Given the description of an element on the screen output the (x, y) to click on. 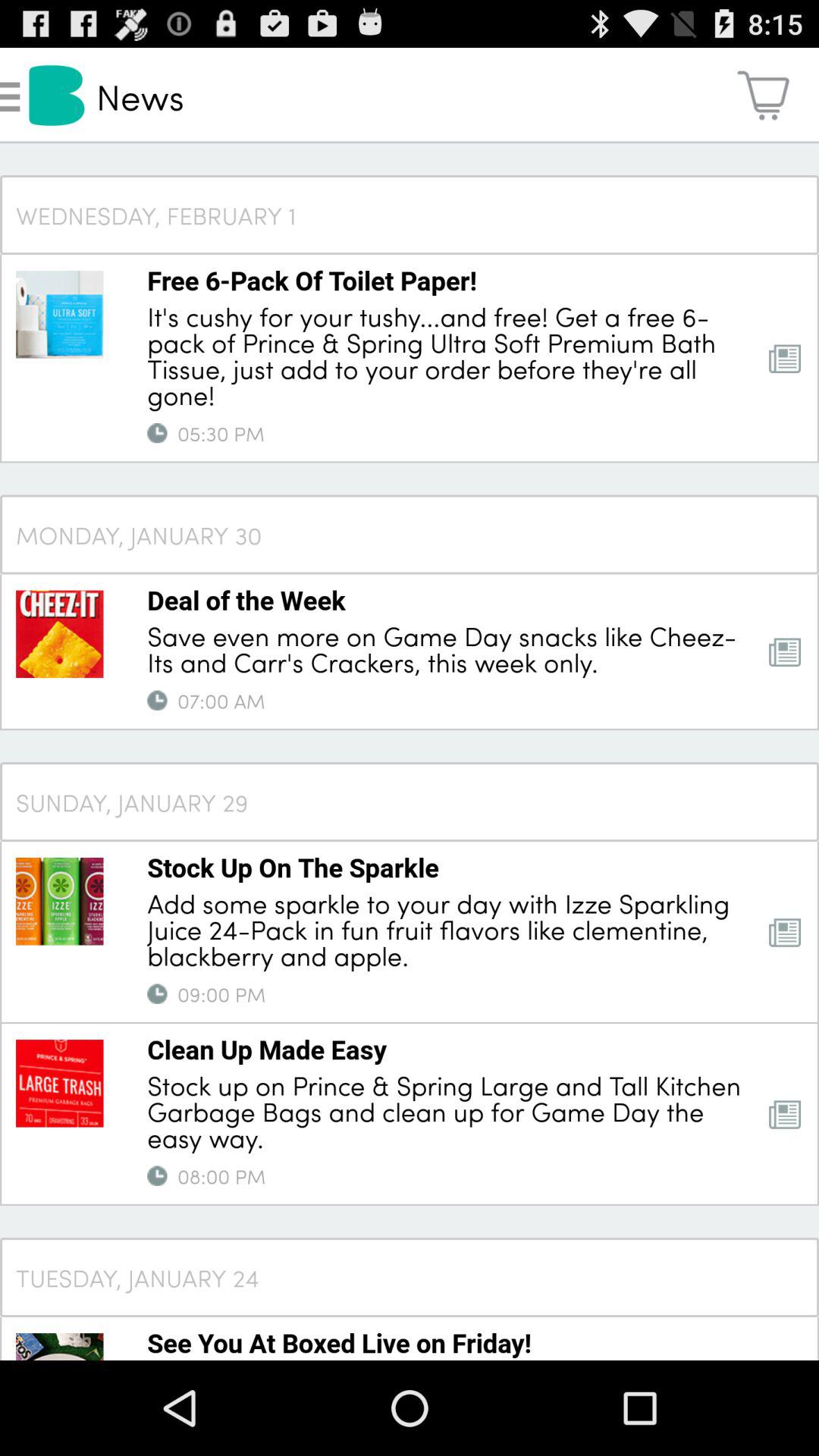
open item next to 08:00 pm item (157, 1175)
